Given the description of an element on the screen output the (x, y) to click on. 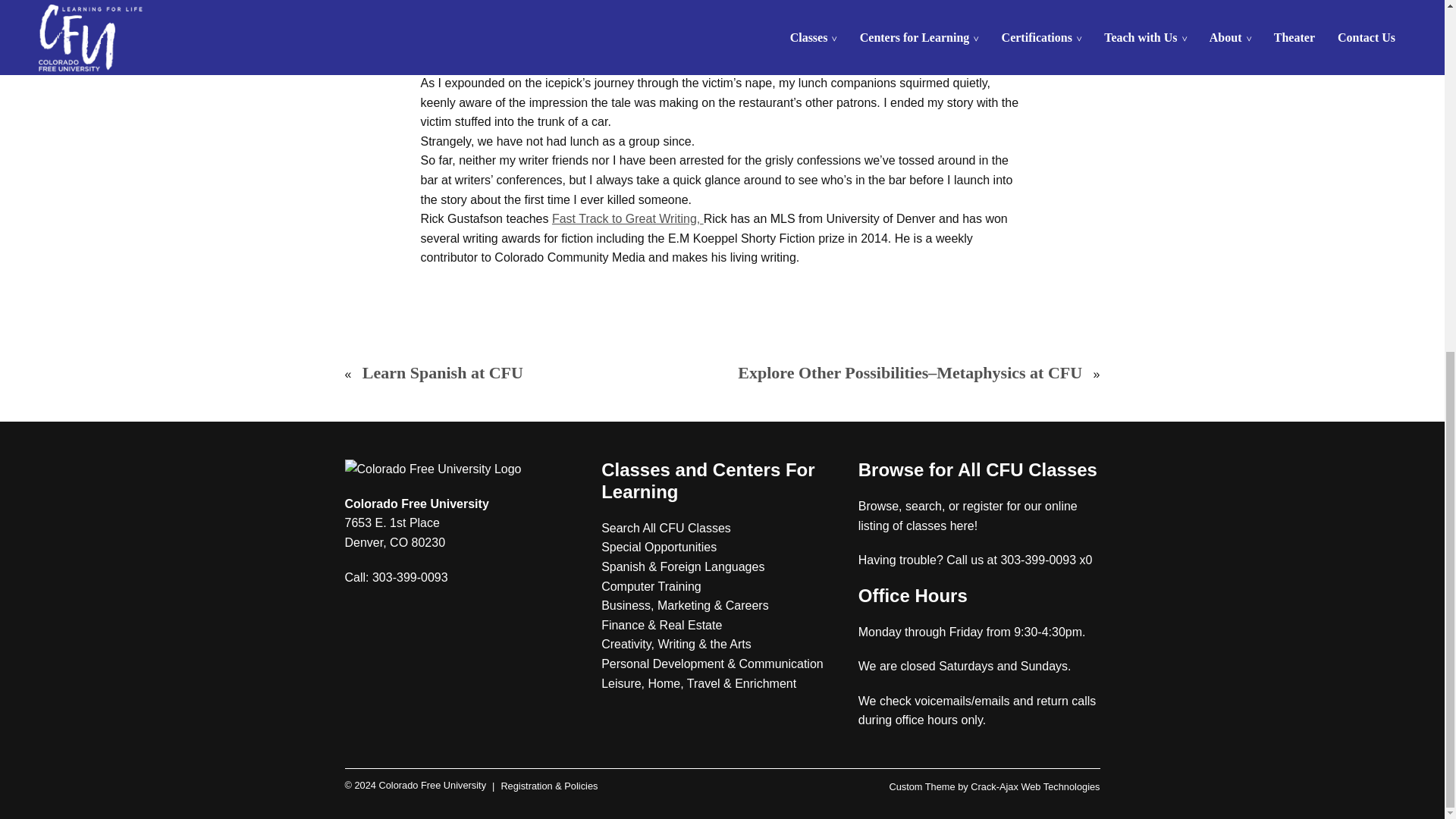
Colorado Free University (414, 785)
Custom Theme by Crack-Ajax Web Technologies (993, 786)
Learn Spanish at CFU (442, 372)
Fast Tracj to Great Writing (627, 218)
Fast Track to Great Writing, (627, 218)
